Given the description of an element on the screen output the (x, y) to click on. 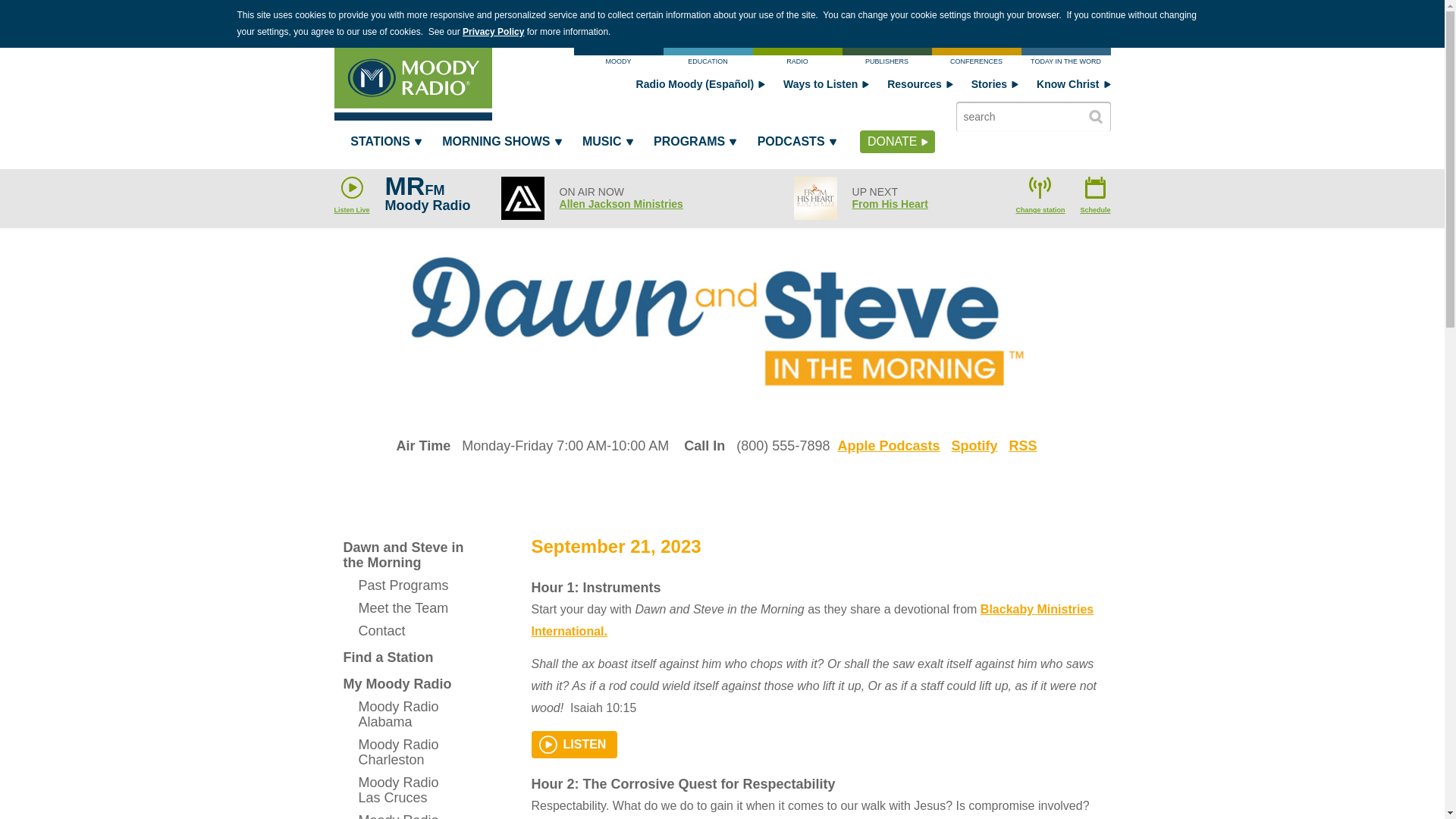
Spotify (973, 445)
MUSIC (606, 145)
Moody Radio Nashville (403, 814)
RADIO (796, 59)
Moody Radio Alabama (403, 714)
Past Programs (403, 585)
Find a Station (403, 657)
Dawn and Steve in the Morning (403, 555)
Privacy Policy (493, 31)
Resources (919, 83)
